Given the description of an element on the screen output the (x, y) to click on. 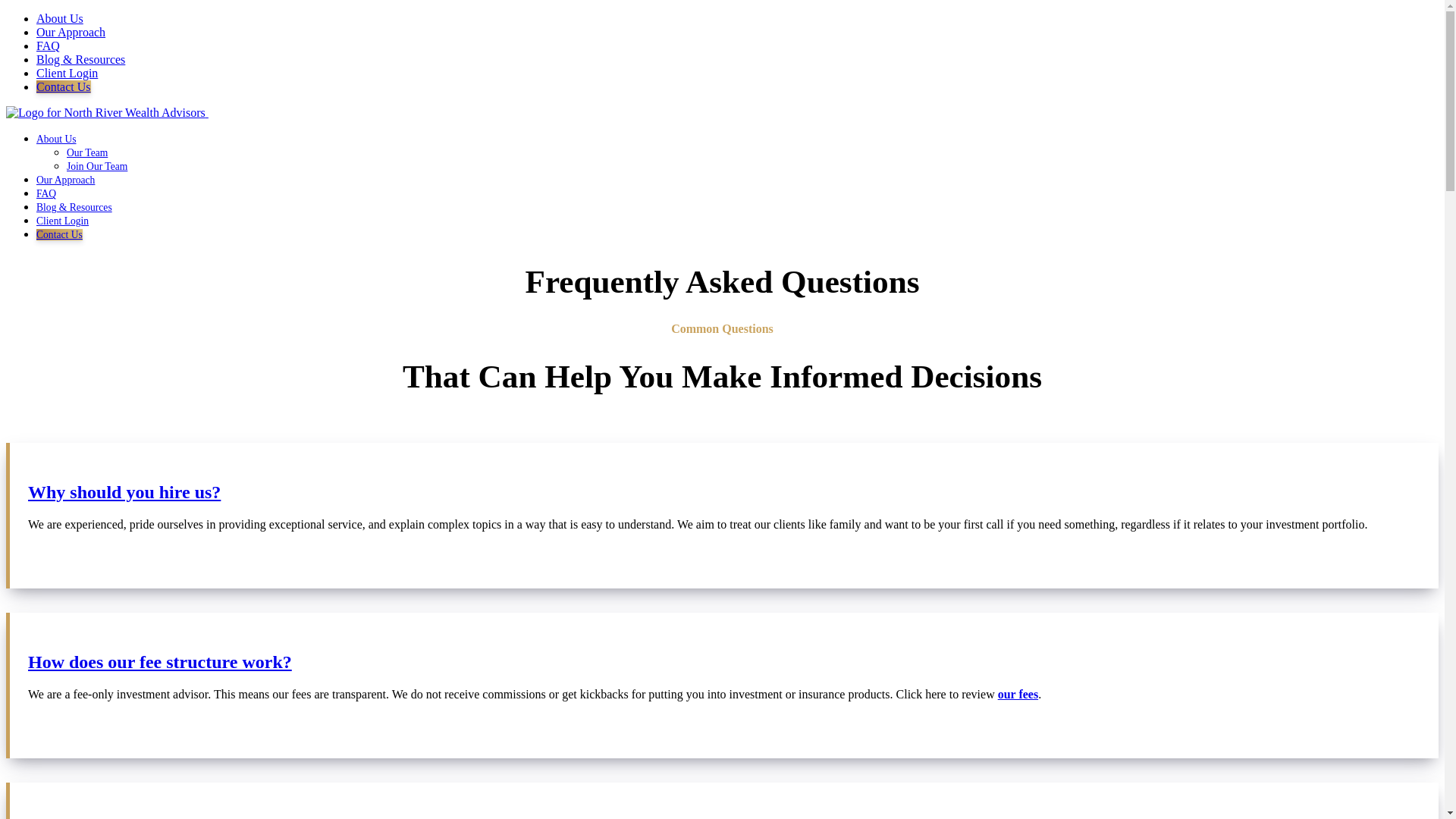
our fees (1017, 694)
About Us (59, 18)
FAQ (47, 45)
Contact Us (63, 86)
Join Our Team (97, 165)
About Us (56, 138)
Our Approach (70, 31)
Why should you hire us? (724, 492)
Our Team (86, 152)
Client Login (66, 72)
Our Approach (65, 179)
Contact Us (59, 234)
How does our fee structure work? (724, 661)
FAQ (46, 193)
Client Login (62, 220)
